Given the description of an element on the screen output the (x, y) to click on. 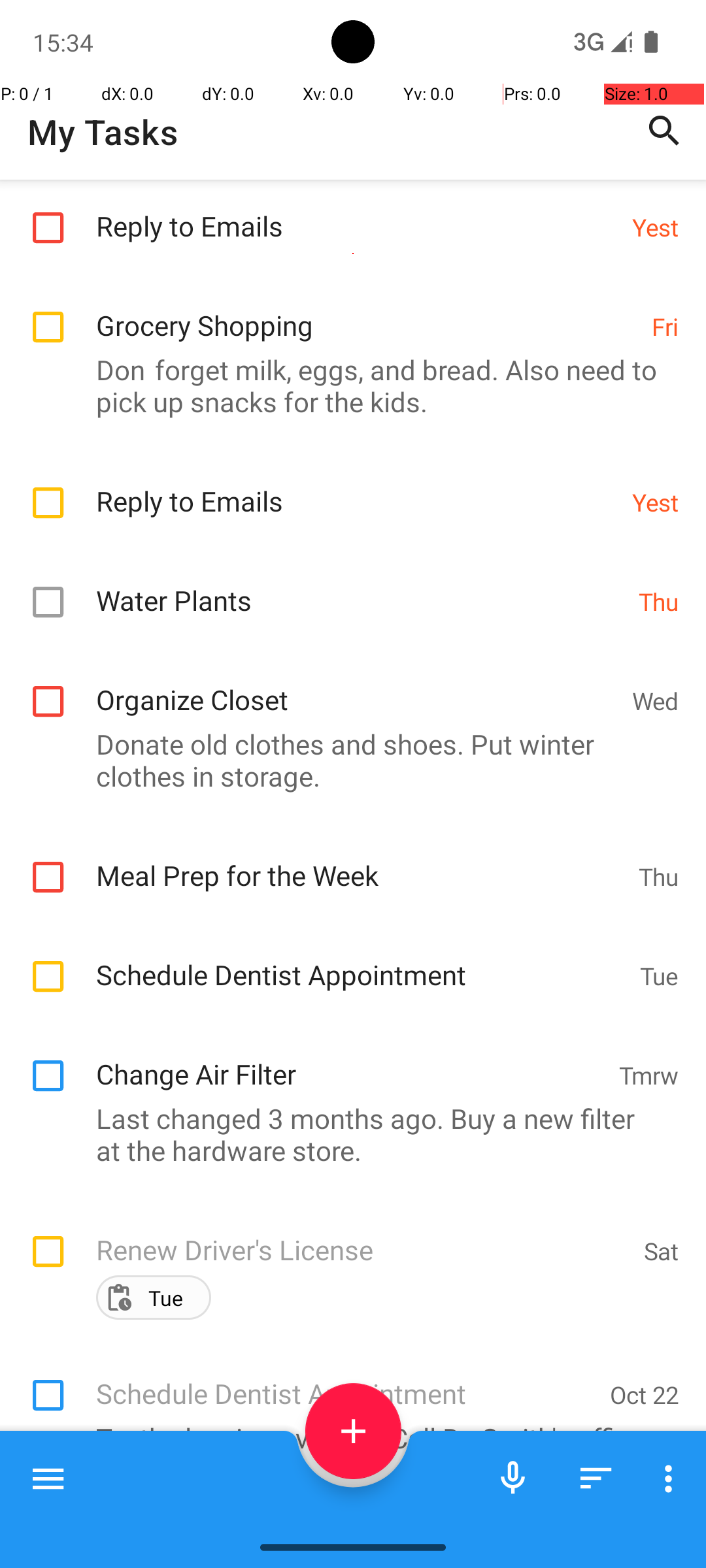
Reply to Emails Element type: android.widget.TextView (357, 211)
Yest Element type: android.widget.TextView (655, 226)
Grocery Shopping Element type: android.widget.TextView (367, 310)
Don	 forget milk, eggs, and bread. Also need to pick up snacks for the kids. Element type: android.widget.TextView (346, 385)
Fri Element type: android.widget.TextView (665, 325)
Water Plants Element type: android.widget.TextView (360, 586)
Thu Element type: android.widget.TextView (658, 600)
Organize Closet Element type: android.widget.TextView (357, 685)
Donate old clothes and shoes. Put winter clothes in storage. Element type: android.widget.TextView (346, 759)
Meal Prep for the Week Element type: android.widget.TextView (360, 861)
Schedule Dentist Appointment Element type: android.widget.TextView (361, 960)
Tue Element type: android.widget.TextView (659, 975)
Change Air Filter Element type: android.widget.TextView (350, 1059)
Last changed 3 months ago. Buy a new filter at the hardware store. Element type: android.widget.TextView (346, 1133)
Tmrw Element type: android.widget.TextView (648, 1074)
Renew Driver's License Element type: android.widget.TextView (363, 1235)
Sat Element type: android.widget.TextView (661, 1250)
Teeth cleaning overdue. Call Dr. Smith's office. Element type: android.widget.TextView (346, 1437)
Oct 22 Element type: android.widget.TextView (644, 1394)
